Given the description of an element on the screen output the (x, y) to click on. 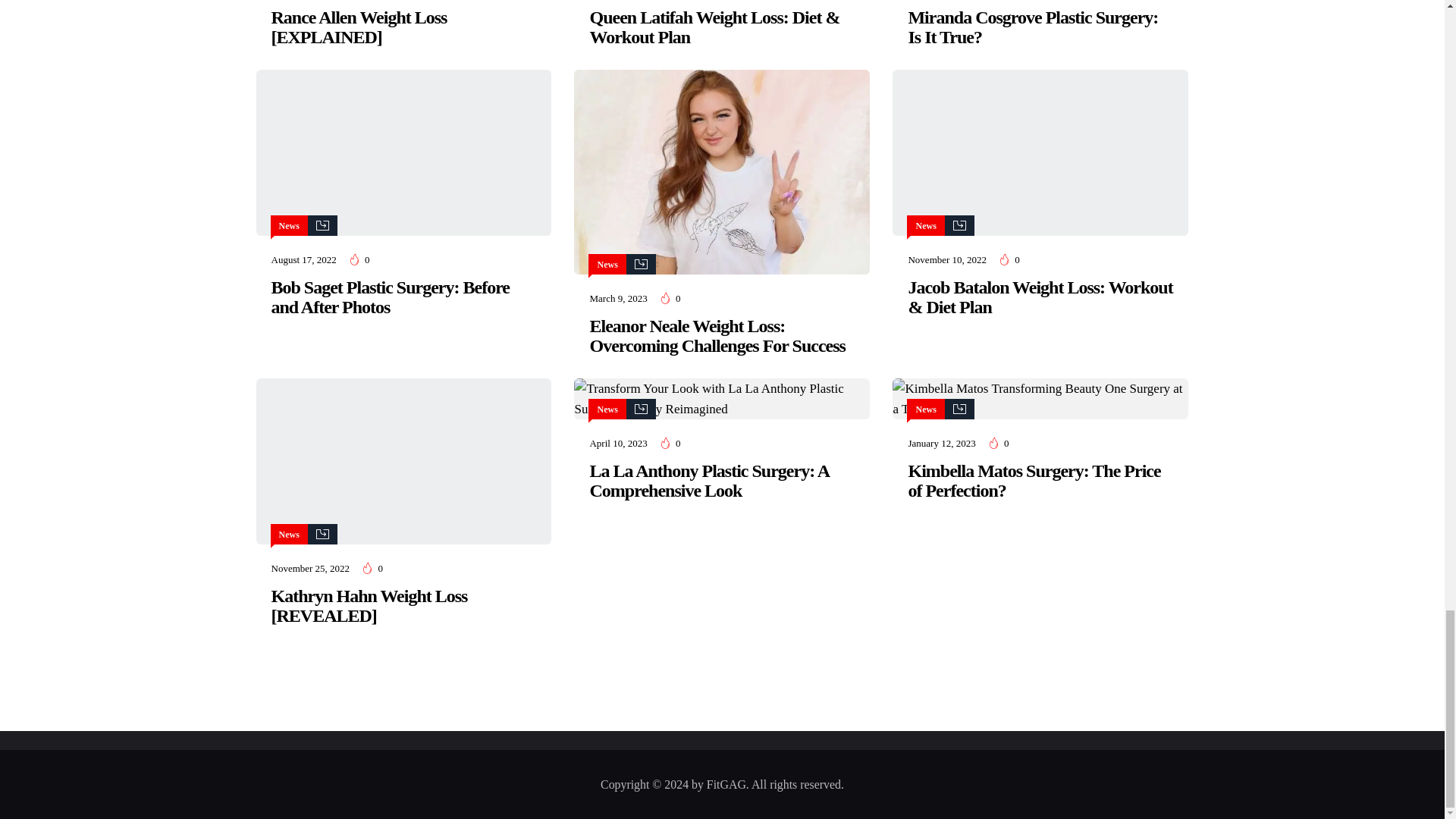
Like (360, 259)
View all posts in News (289, 225)
Bob Saget Plastic Surgery: Before and After Photos (403, 152)
